Given the description of an element on the screen output the (x, y) to click on. 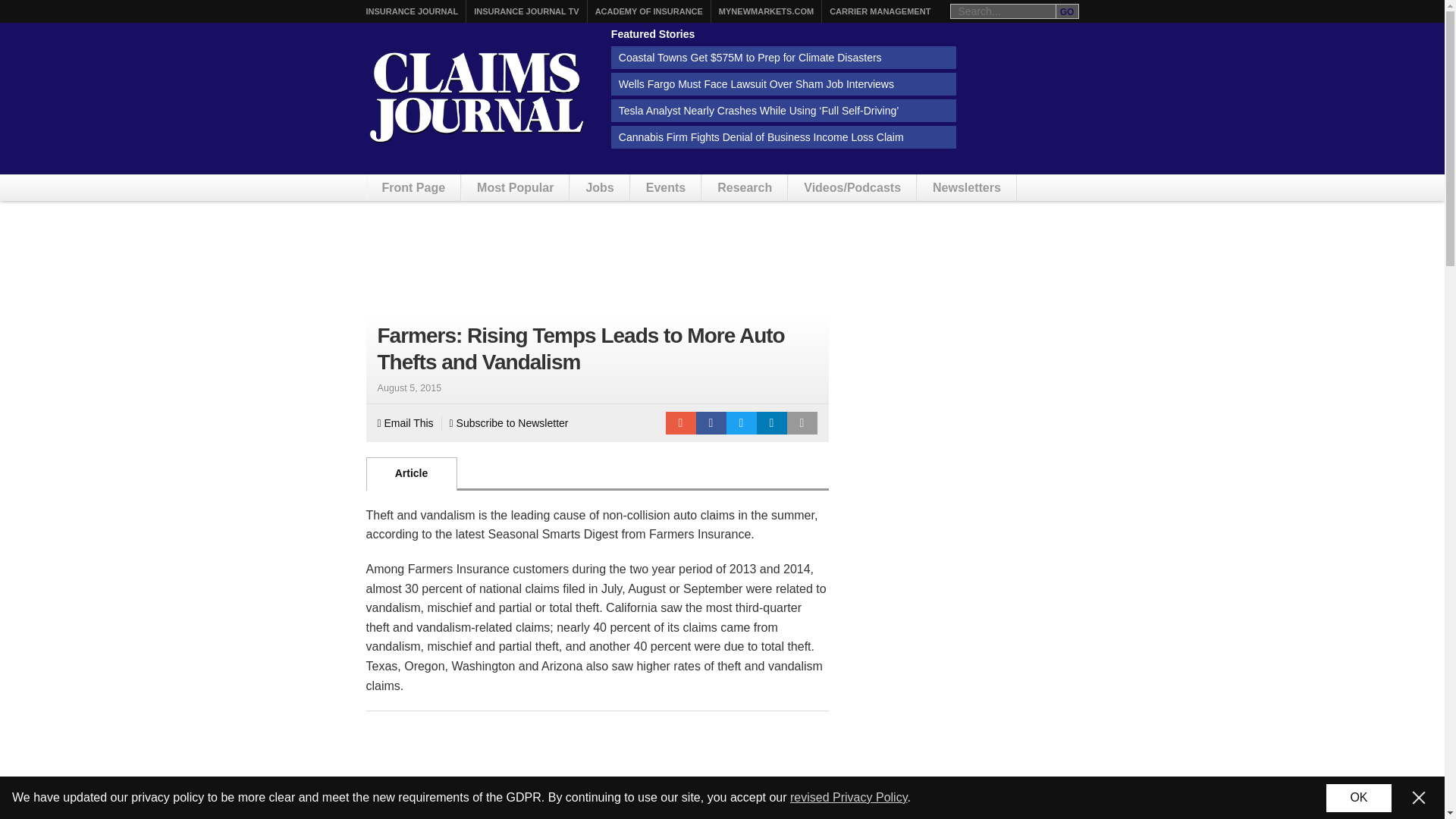
Post to Facebook. (710, 422)
CARRIER MANAGEMENT (879, 11)
Article (411, 473)
Email to a friend (680, 422)
Go (1066, 11)
Print Article (801, 422)
Share on LinkedIn. (772, 422)
Cannabis Firm Fights Denial of Business Income Loss Claim (783, 137)
LinkedIn (772, 422)
Most Popular (515, 187)
Events (665, 187)
Print Article (801, 422)
Subscribe to Newsletter (509, 422)
Share on Twitter. (741, 422)
Research (744, 187)
